Given the description of an element on the screen output the (x, y) to click on. 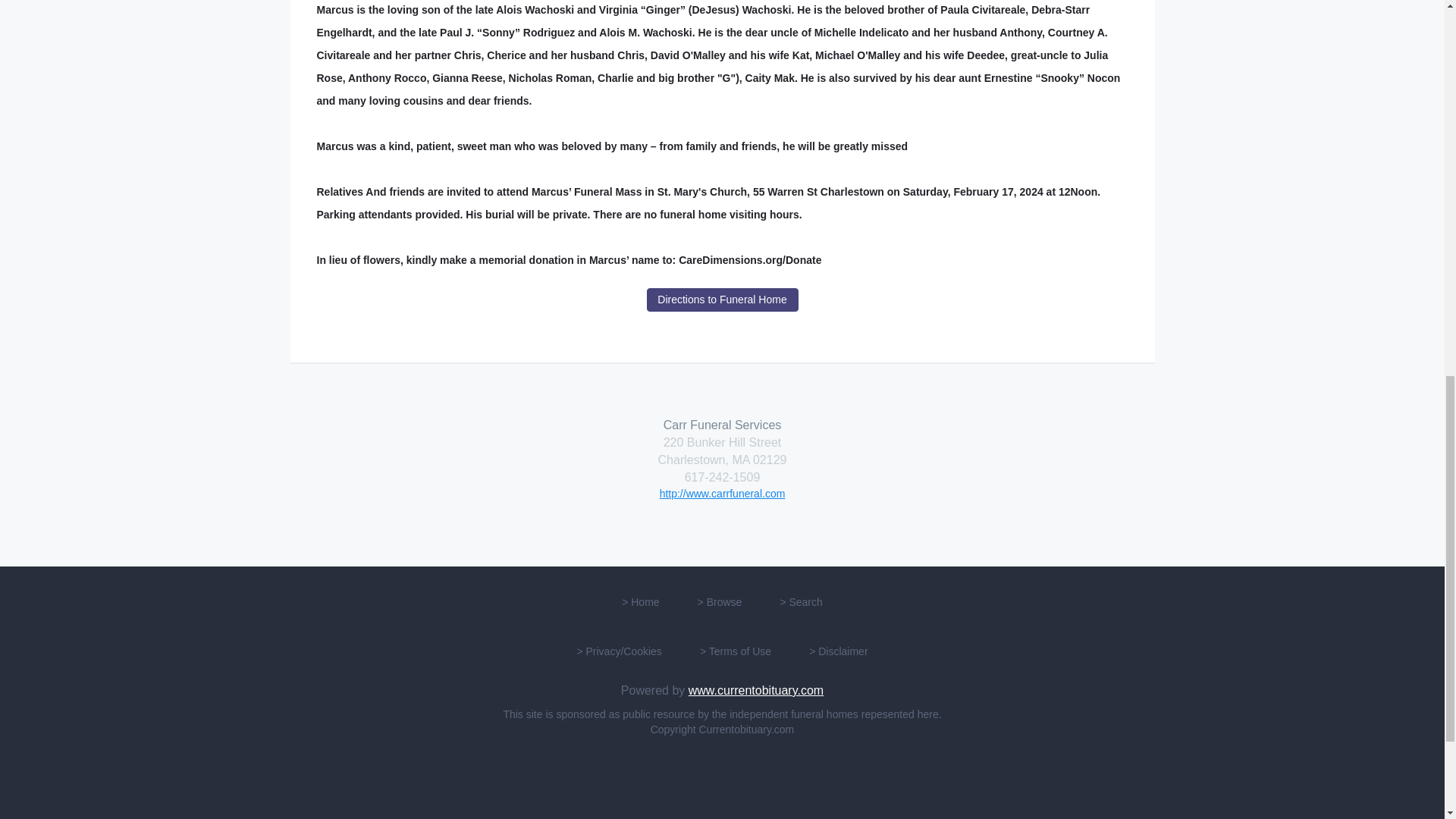
Terms of Use (740, 651)
617-242-1509 (722, 477)
Directions to Funeral Home (721, 300)
Search (805, 602)
www.currentobituary.com (756, 689)
Home (644, 602)
Browse (724, 602)
Directions to Funeral Home (722, 300)
Disclaimer (842, 651)
